Given the description of an element on the screen output the (x, y) to click on. 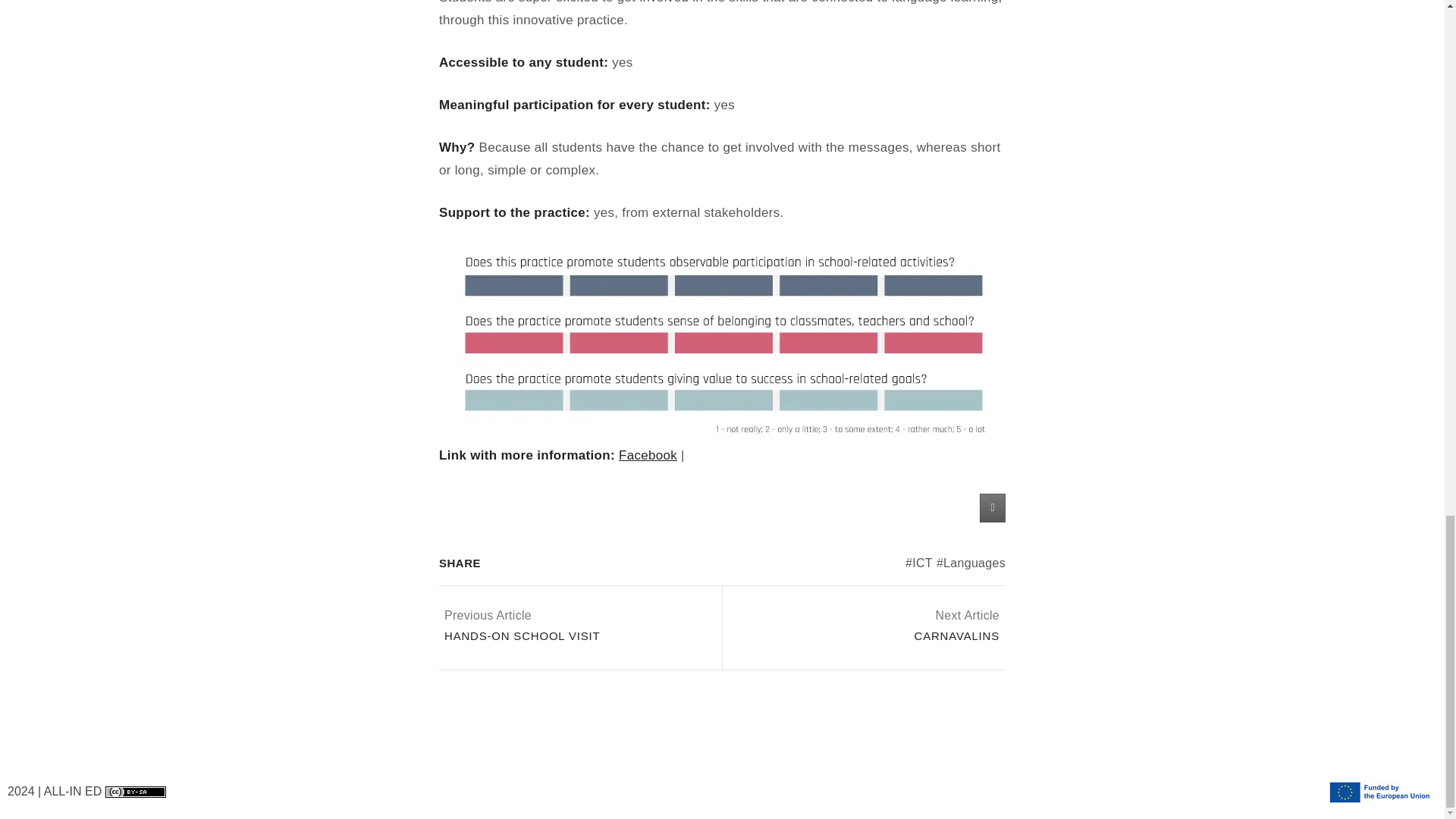
Facebook (647, 454)
ICT (521, 626)
Languages (956, 626)
